Given the description of an element on the screen output the (x, y) to click on. 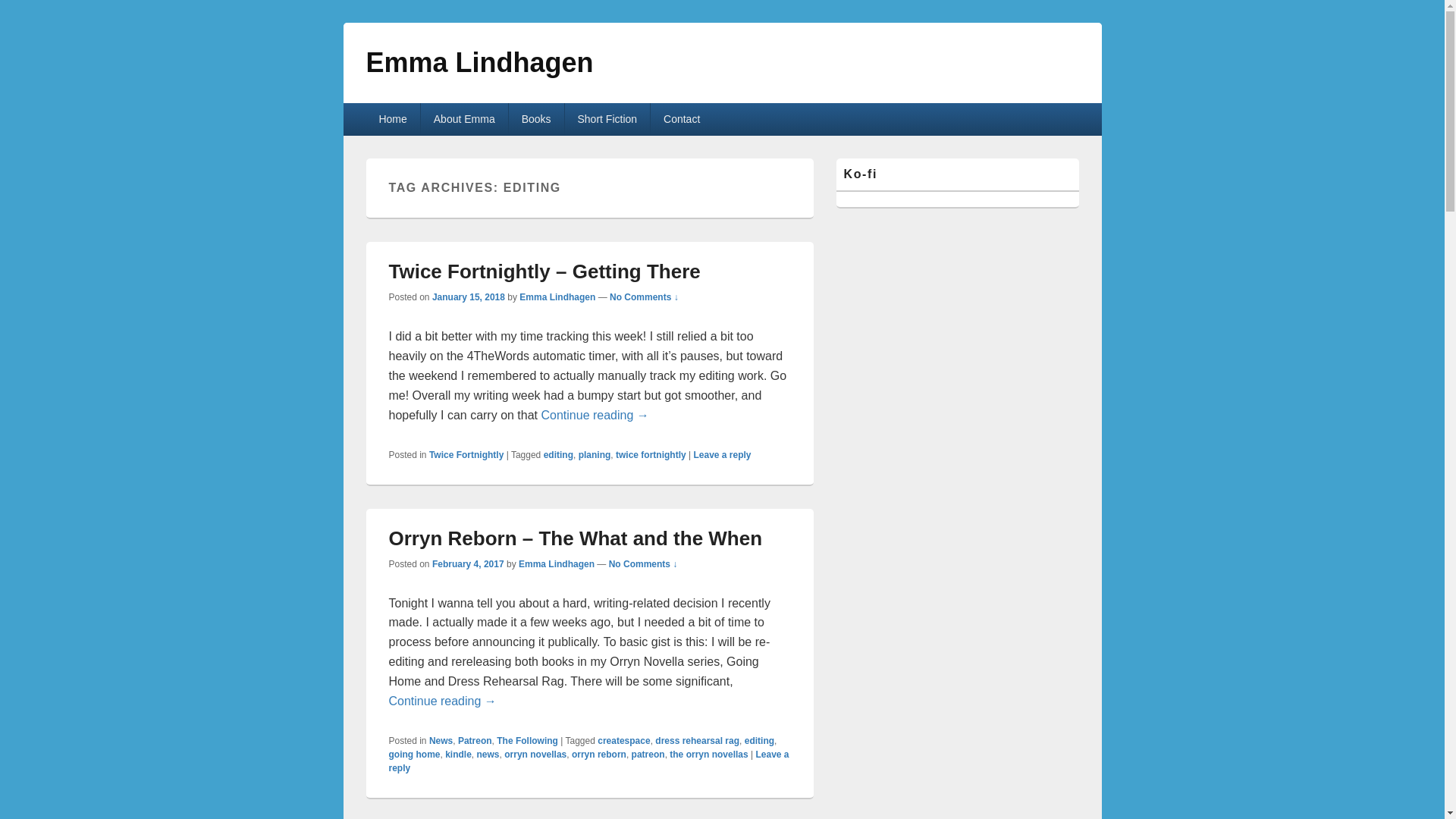
Contact (681, 119)
Leave a reply (722, 454)
dress rehearsal rag (697, 740)
Books (536, 119)
editing (558, 454)
Emma Lindhagen (557, 296)
the orryn novellas (708, 754)
20:02 (468, 296)
Emma Lindhagen (478, 61)
January 15, 2018 (468, 296)
